Given the description of an element on the screen output the (x, y) to click on. 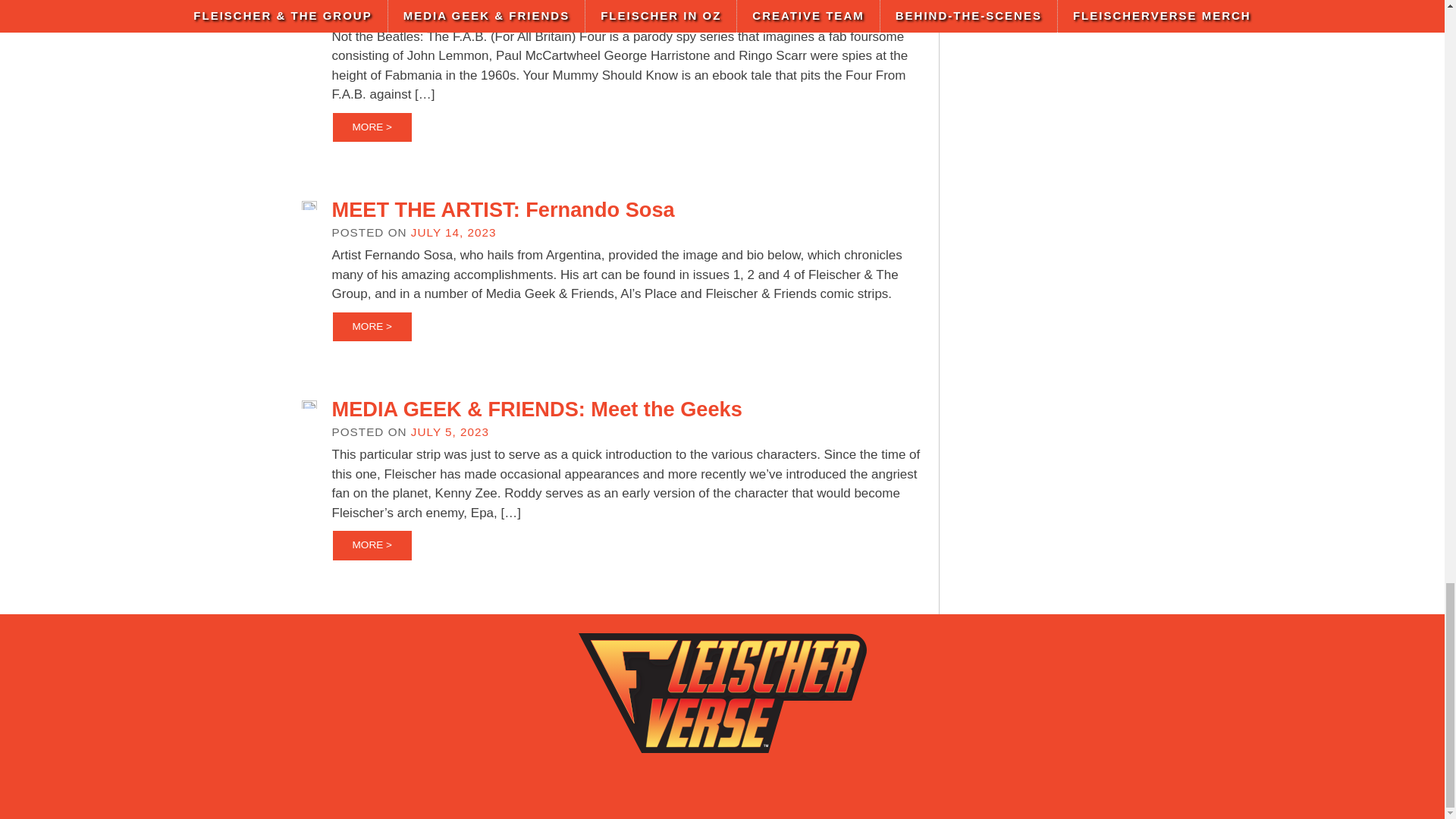
JULY 19, 2023 (453, 13)
MEET THE ARTIST: Fernando Sosa (503, 209)
JULY 14, 2023 (453, 232)
